Given the description of an element on the screen output the (x, y) to click on. 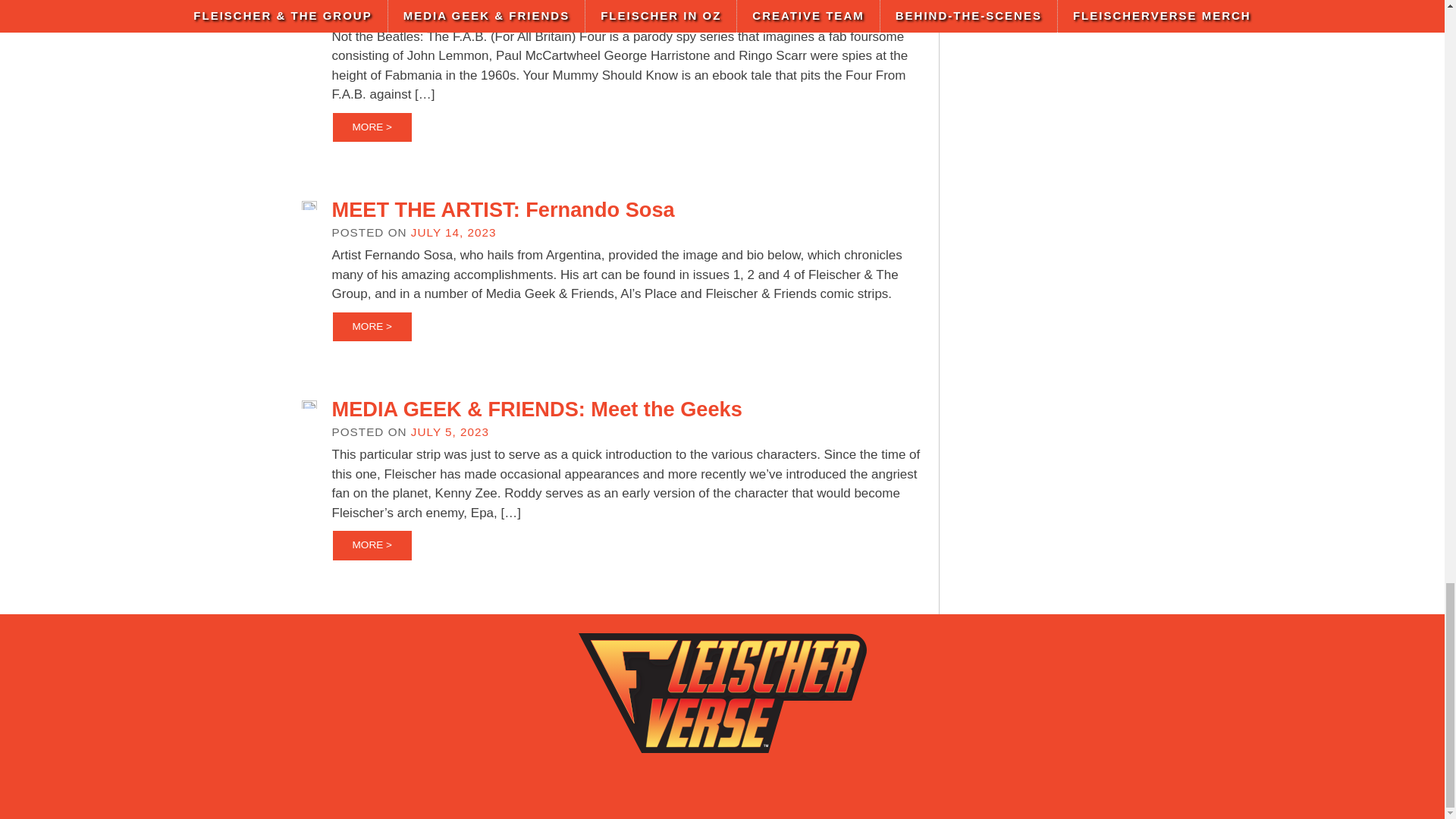
JULY 19, 2023 (453, 13)
MEET THE ARTIST: Fernando Sosa (503, 209)
JULY 14, 2023 (453, 232)
